Given the description of an element on the screen output the (x, y) to click on. 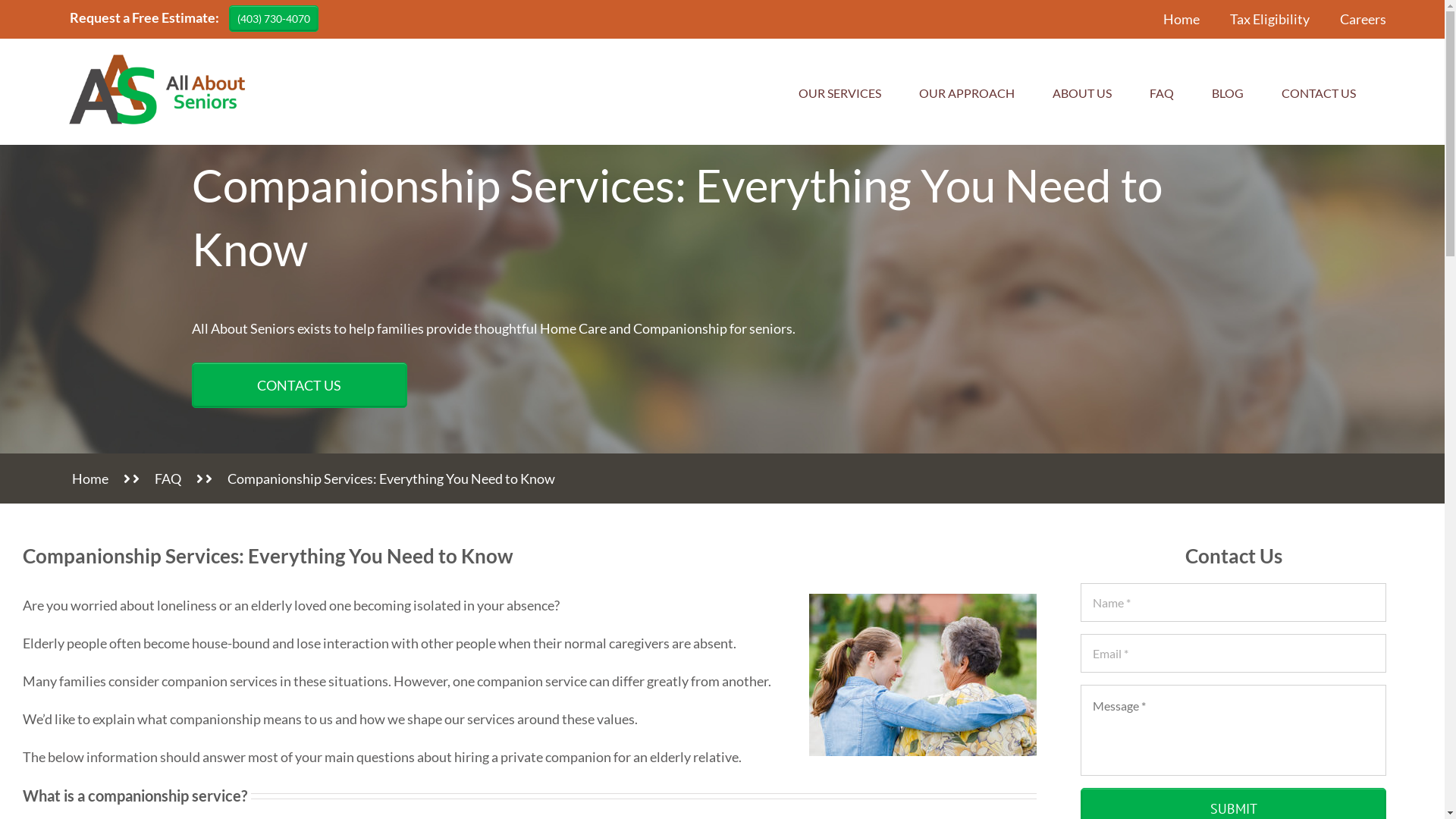
BLOG Element type: text (1227, 92)
Home Element type: text (1149, 76)
FAQ Element type: text (167, 478)
FAQ Element type: text (1161, 92)
Tax Eligibility Element type: text (1269, 18)
OUR SERVICES Element type: text (839, 92)
OUR APPROACH Element type: text (966, 92)
CONTACT US Element type: text (1318, 92)
FAQ Element type: text (1178, 76)
Home Element type: text (90, 478)
(403) 730-4070 Element type: text (273, 18)
Home Element type: text (1181, 18)
CONTACT US Element type: text (298, 384)
Careers Element type: text (1362, 18)
ABOUT US Element type: text (1081, 92)
